Given the description of an element on the screen output the (x, y) to click on. 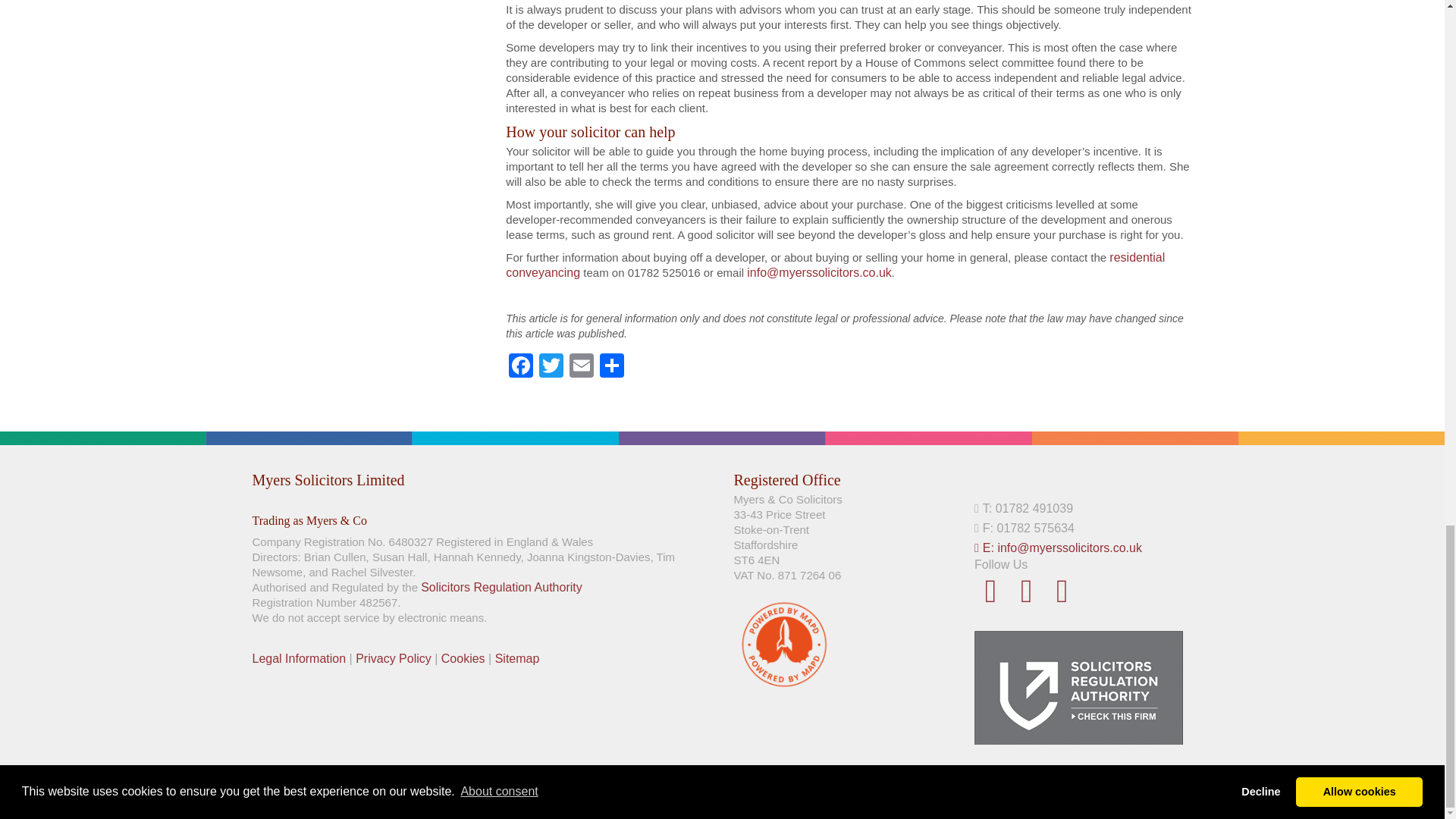
Email (581, 366)
Facebook (520, 366)
Twitter (550, 366)
